Given the description of an element on the screen output the (x, y) to click on. 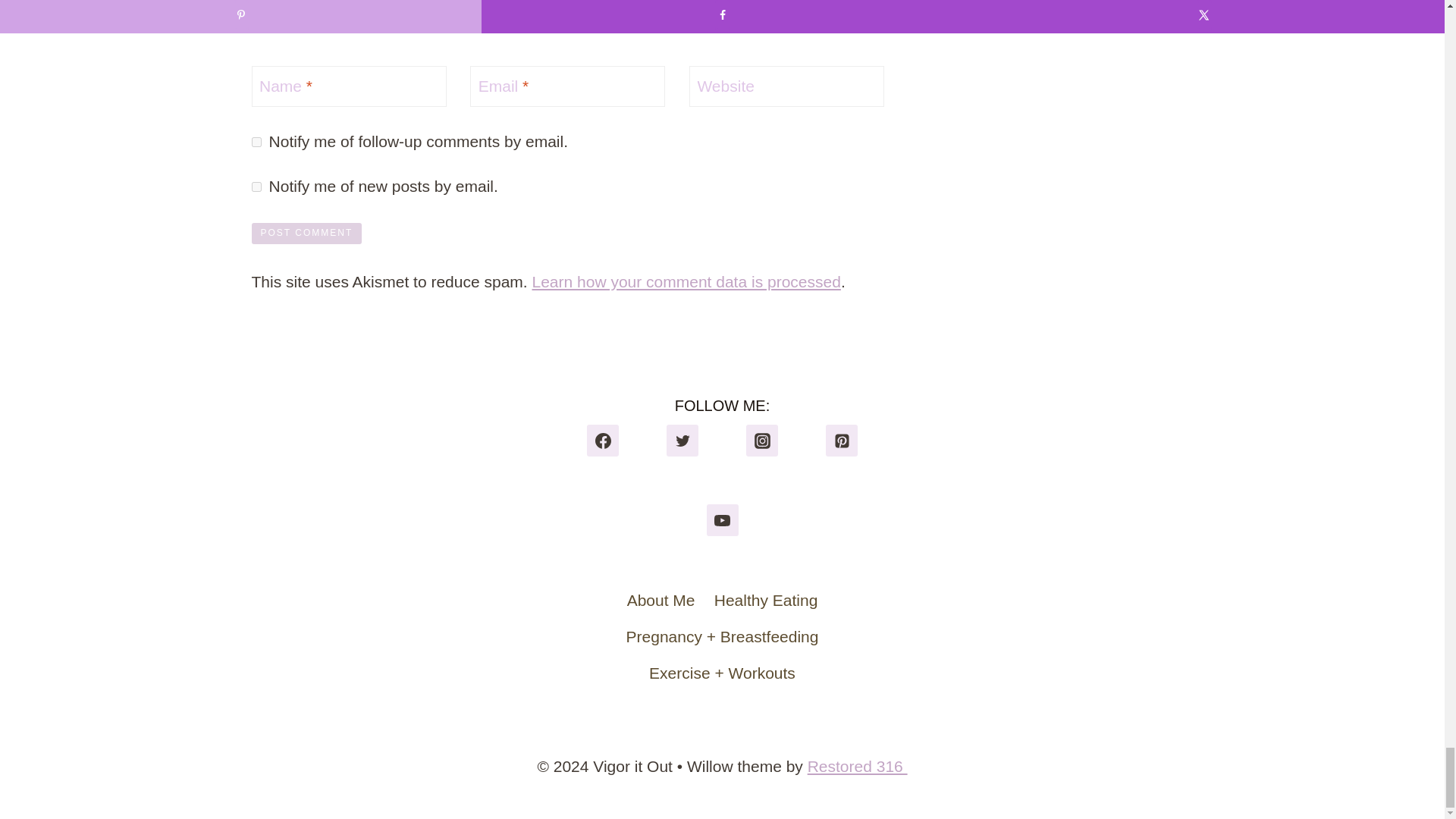
Post Comment (306, 233)
subscribe (256, 142)
subscribe (256, 186)
